Given the description of an element on the screen output the (x, y) to click on. 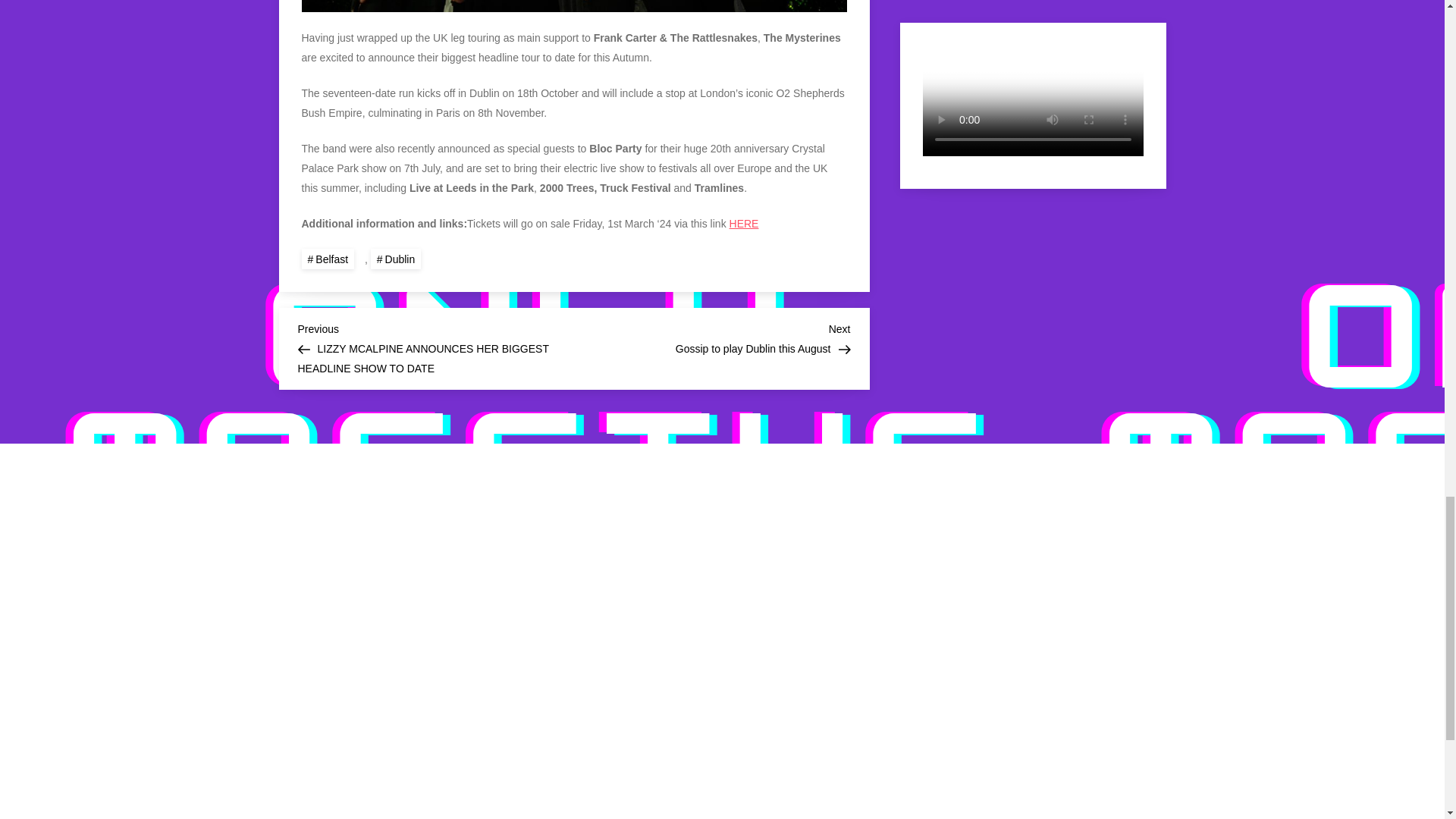
Moon (1032, 653)
Belfast (328, 258)
Dublin (711, 336)
HERE (396, 258)
